Given the description of an element on the screen output the (x, y) to click on. 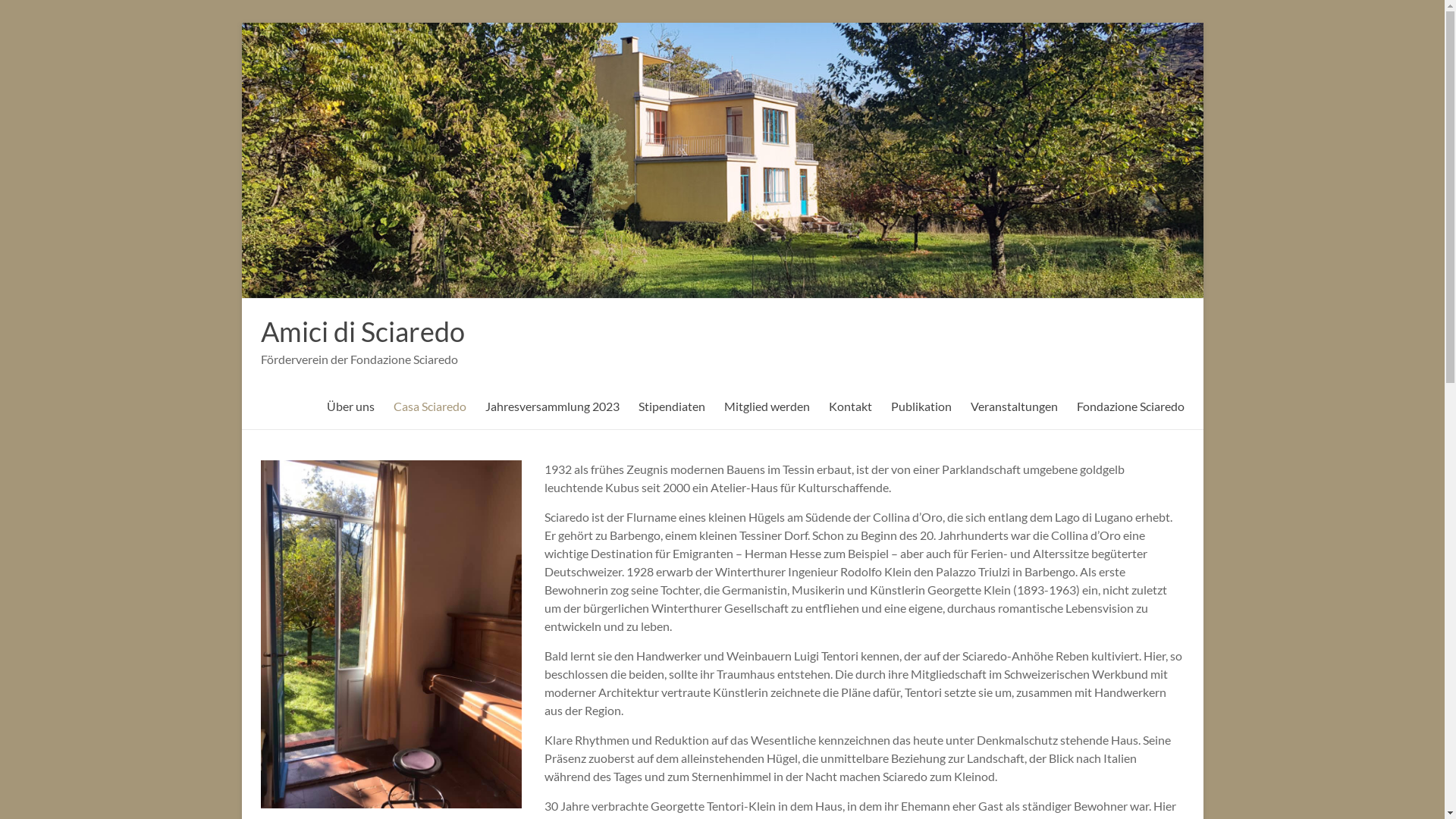
Veranstaltungen Element type: text (1013, 406)
Blick in den Garten Element type: hover (390, 634)
Stipendiaten Element type: text (671, 406)
Zum Inhalt springen Element type: text (241, 21)
Mitglied werden Element type: text (766, 406)
Jahresversammlung 2023 Element type: text (552, 406)
Kontakt Element type: text (849, 406)
Amici di Sciaredo Element type: text (362, 331)
Casa Sciaredo Element type: text (428, 406)
Publikation Element type: text (920, 406)
Fondazione Sciaredo Element type: text (1130, 406)
